Given the description of an element on the screen output the (x, y) to click on. 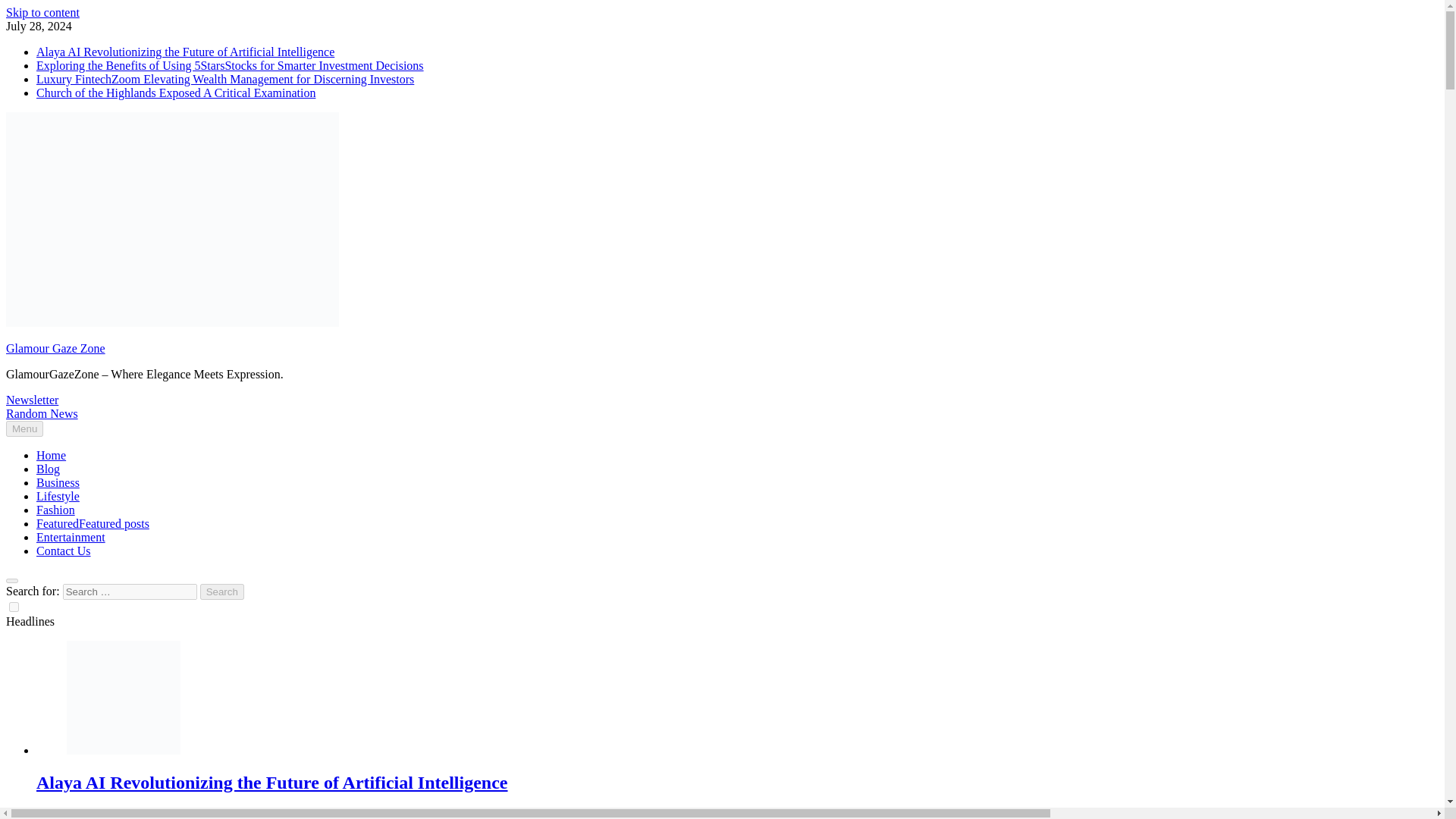
Fashion (55, 509)
Contact Us (63, 550)
FeaturedFeatured posts (92, 522)
Menu (24, 428)
Random News (41, 413)
Church of the Highlands Exposed A Critical Examination (175, 92)
Blog (47, 468)
1 week ago1 week ago (91, 813)
